Given the description of an element on the screen output the (x, y) to click on. 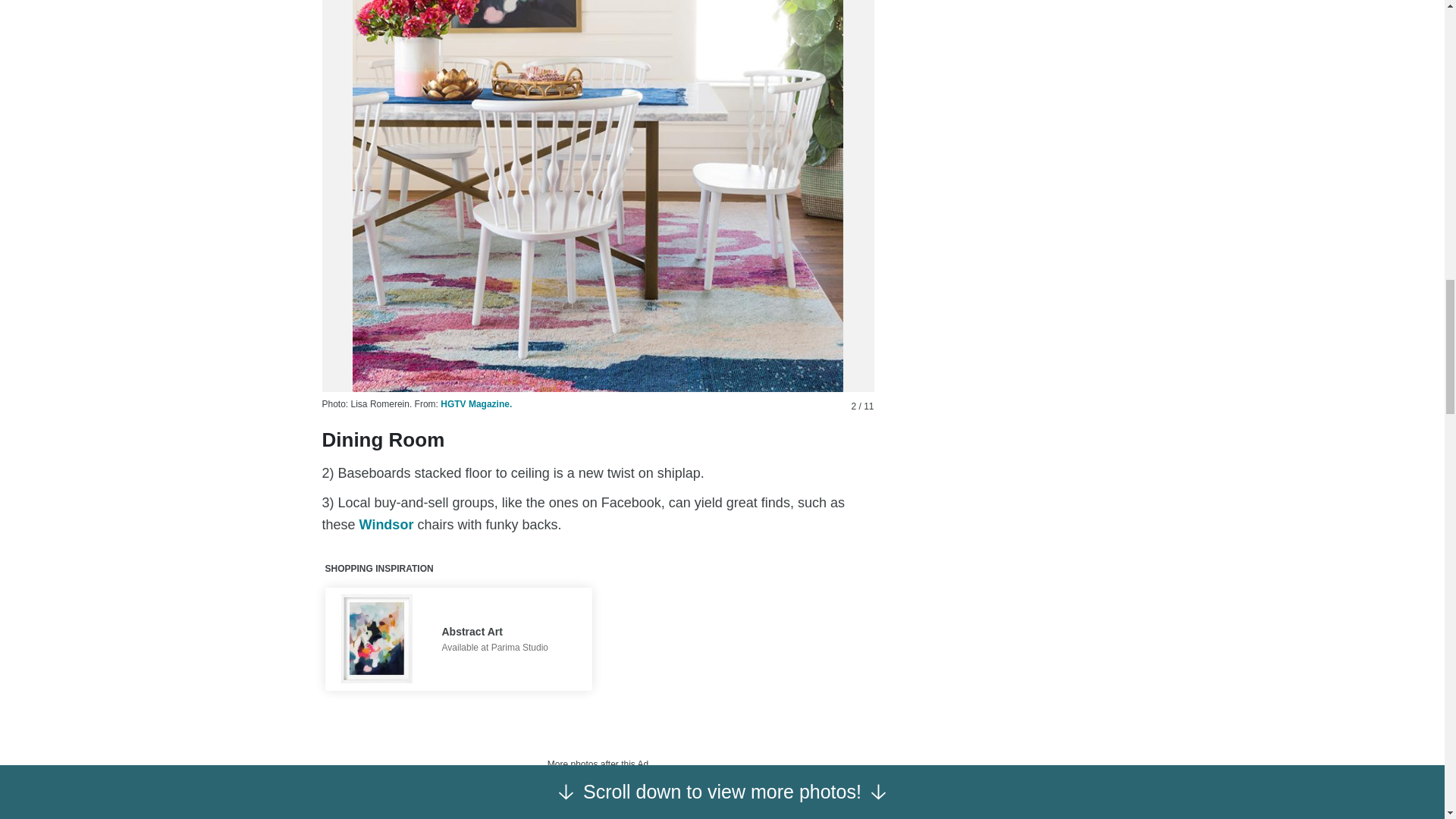
3rd party ad content (597, 798)
Abstract Art (376, 639)
Abstract Art (494, 631)
